Given the description of an element on the screen output the (x, y) to click on. 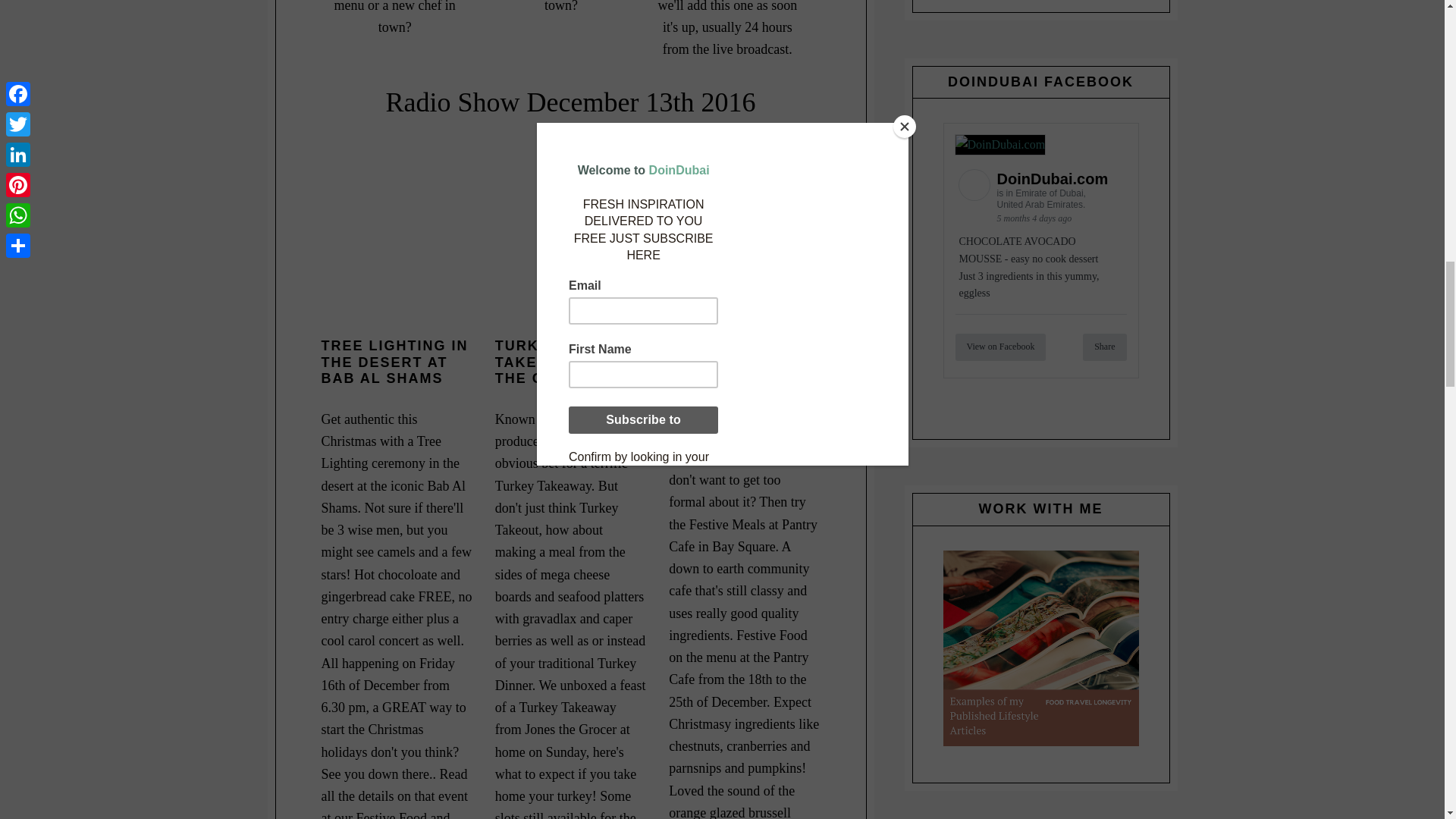
pantry-cafe-festive-sides-food-news-and-reviews-doindubai (743, 239)
turkey-take-away-doindubai-jones-the-grocer-in-boxes (570, 239)
bab-al-shams (396, 239)
